Given the description of an element on the screen output the (x, y) to click on. 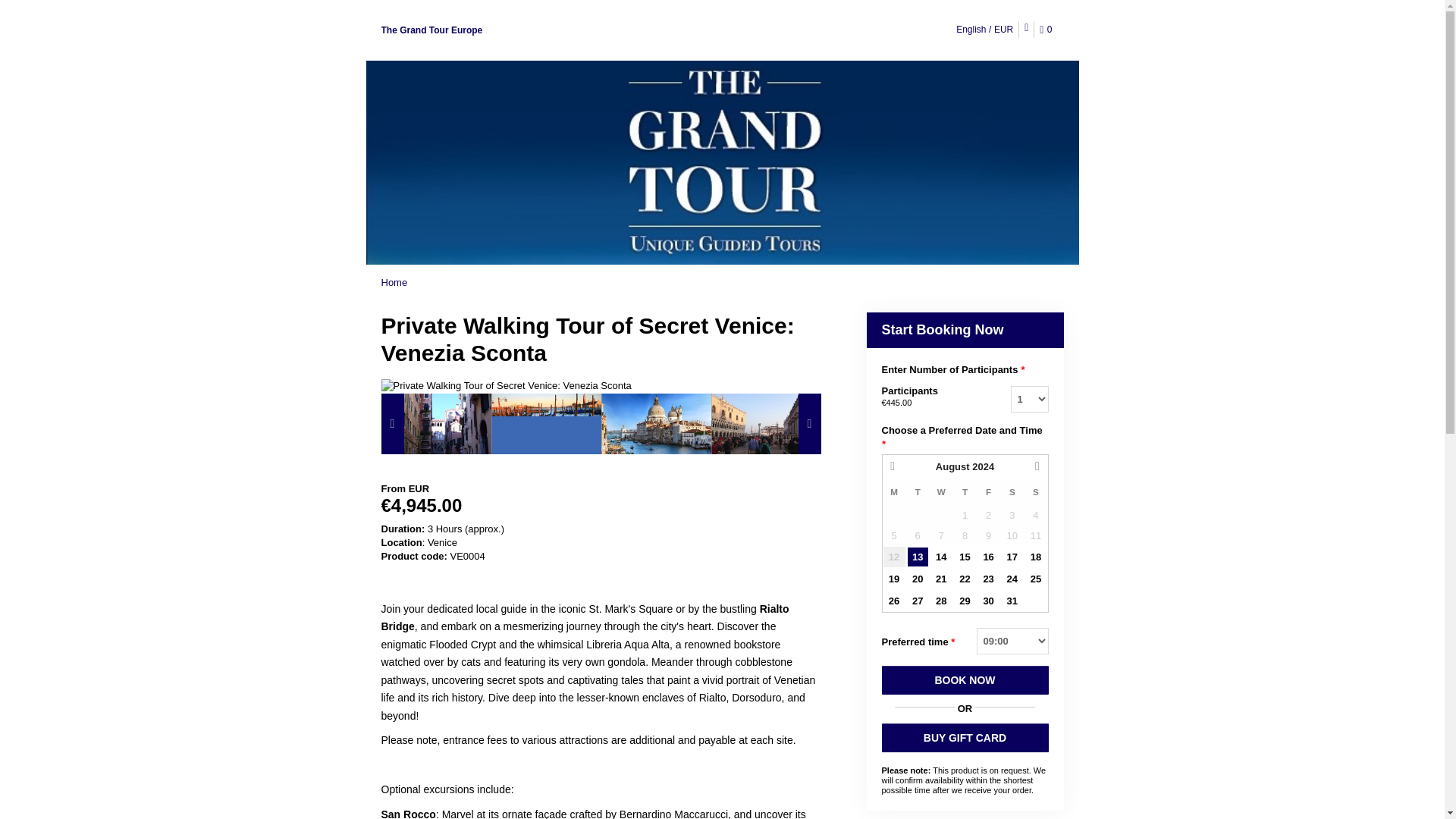
0 (1047, 30)
English EUR (984, 29)
The Grand Tour Europe (430, 30)
